Given the description of an element on the screen output the (x, y) to click on. 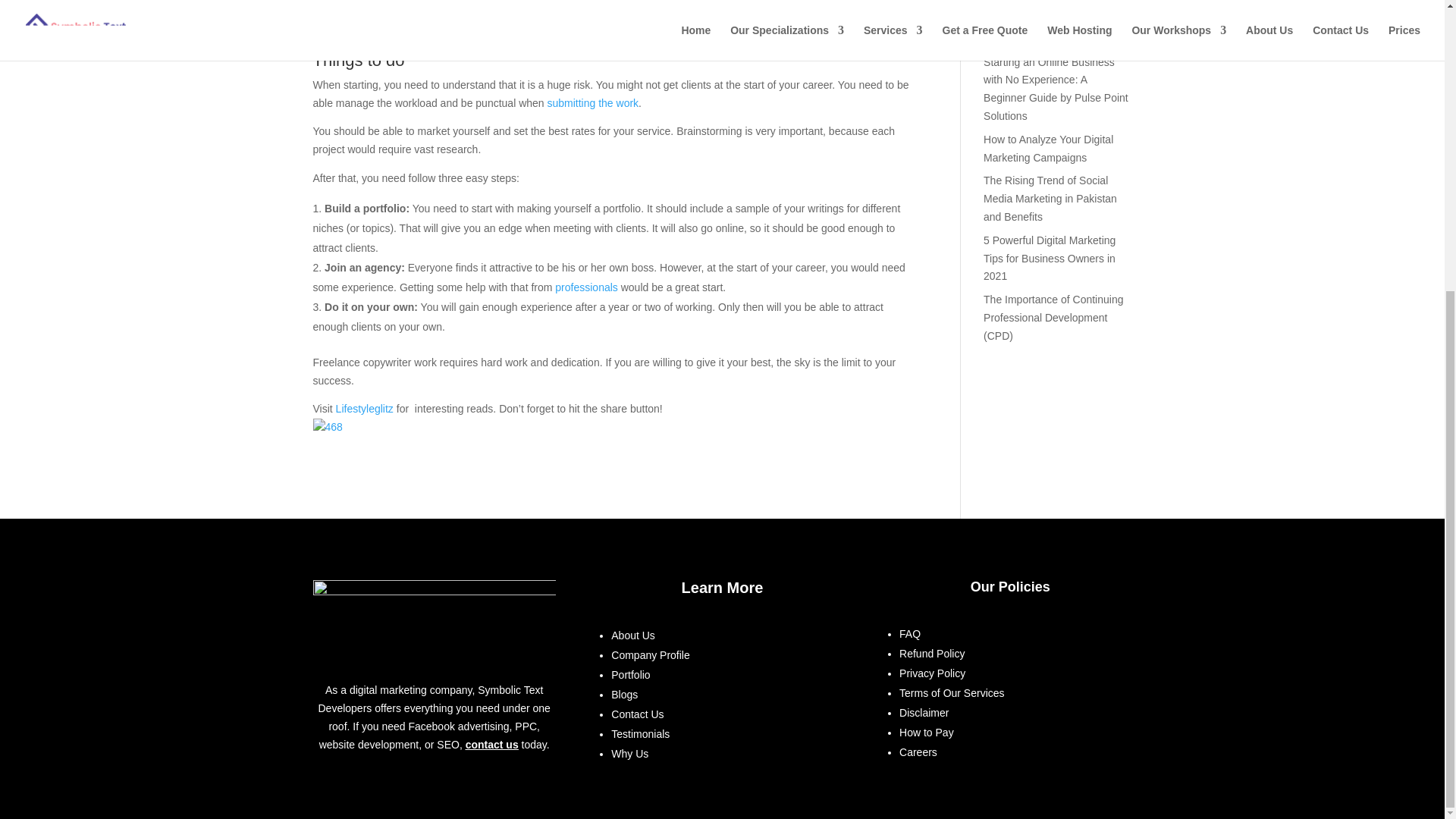
professionals (585, 287)
Lifestyleglitz (364, 408)
submitting the work (593, 102)
white final symbolic (433, 619)
